Given the description of an element on the screen output the (x, y) to click on. 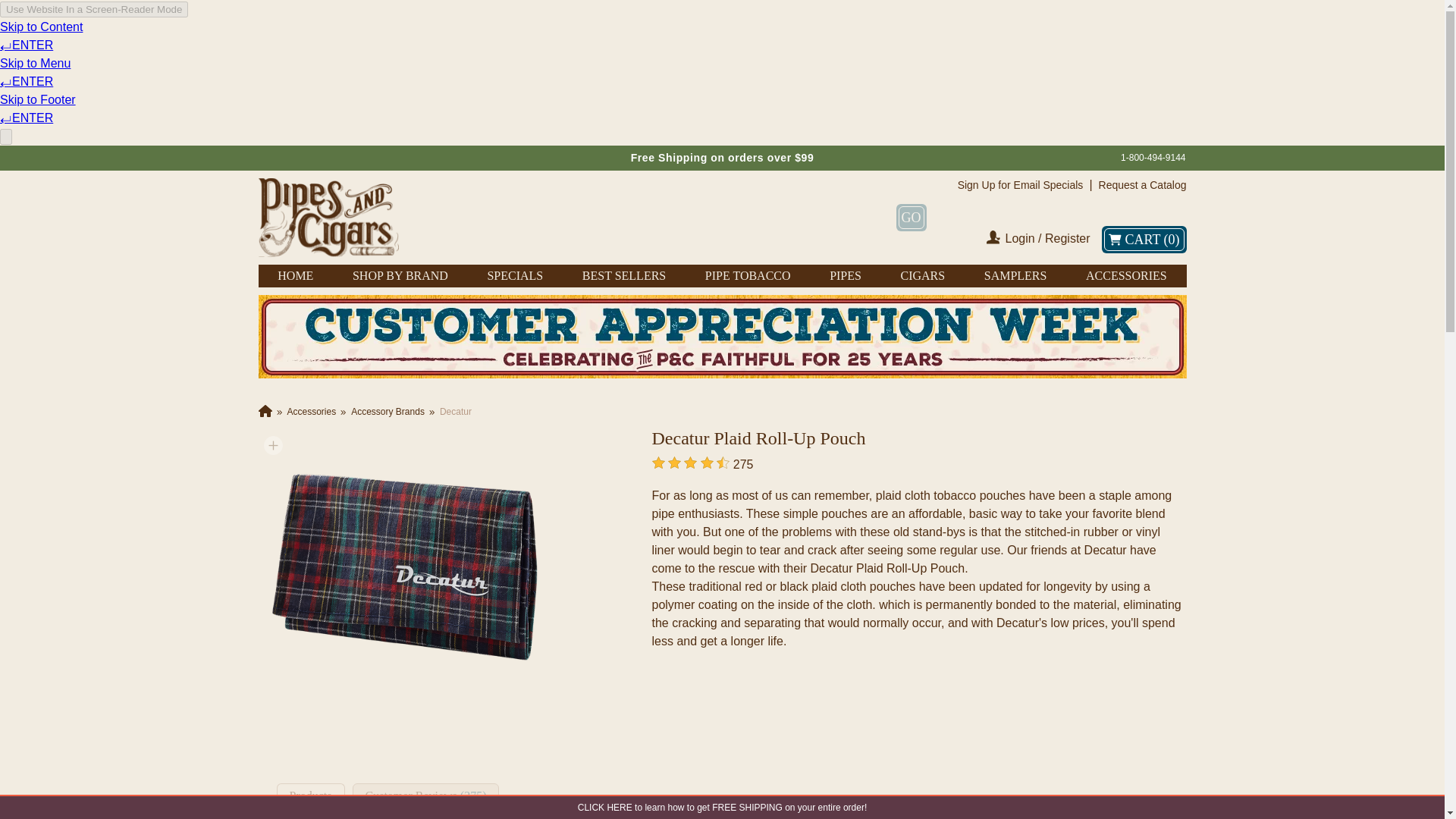
SPECIALS (514, 275)
Sign Up for Email Specials (1020, 184)
1-800-494-9144 (1153, 157)
SHOP BY BRAND (400, 275)
Request a Catalog (1142, 184)
HOME (295, 275)
GO (911, 216)
